Given the description of an element on the screen output the (x, y) to click on. 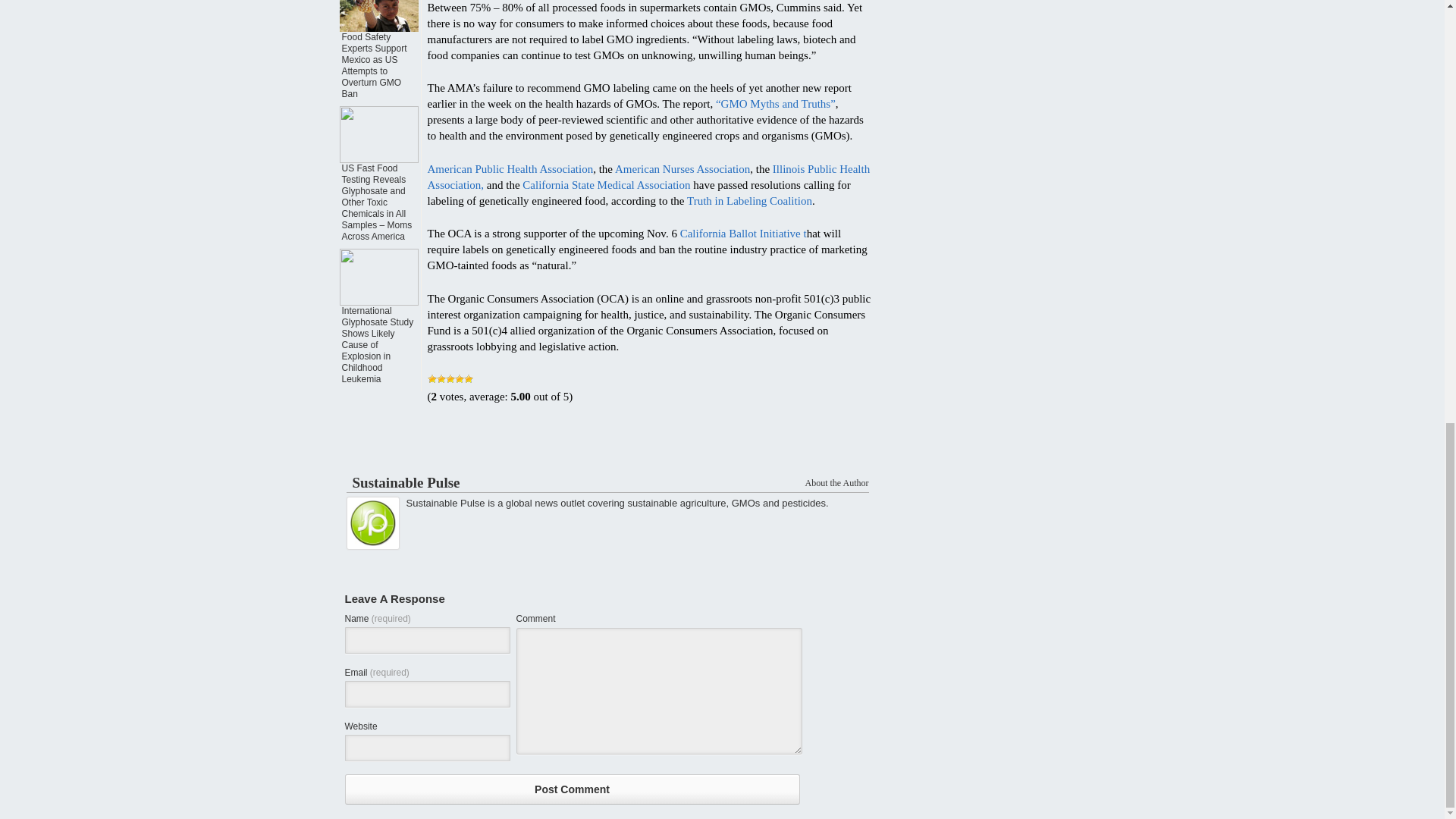
2 Stars (440, 379)
3 Stars (449, 379)
4 Stars (459, 379)
1 Star (432, 379)
Posts by Sustainable Pulse (406, 482)
5 Stars (468, 379)
 Post Comment  (571, 788)
